Given the description of an element on the screen output the (x, y) to click on. 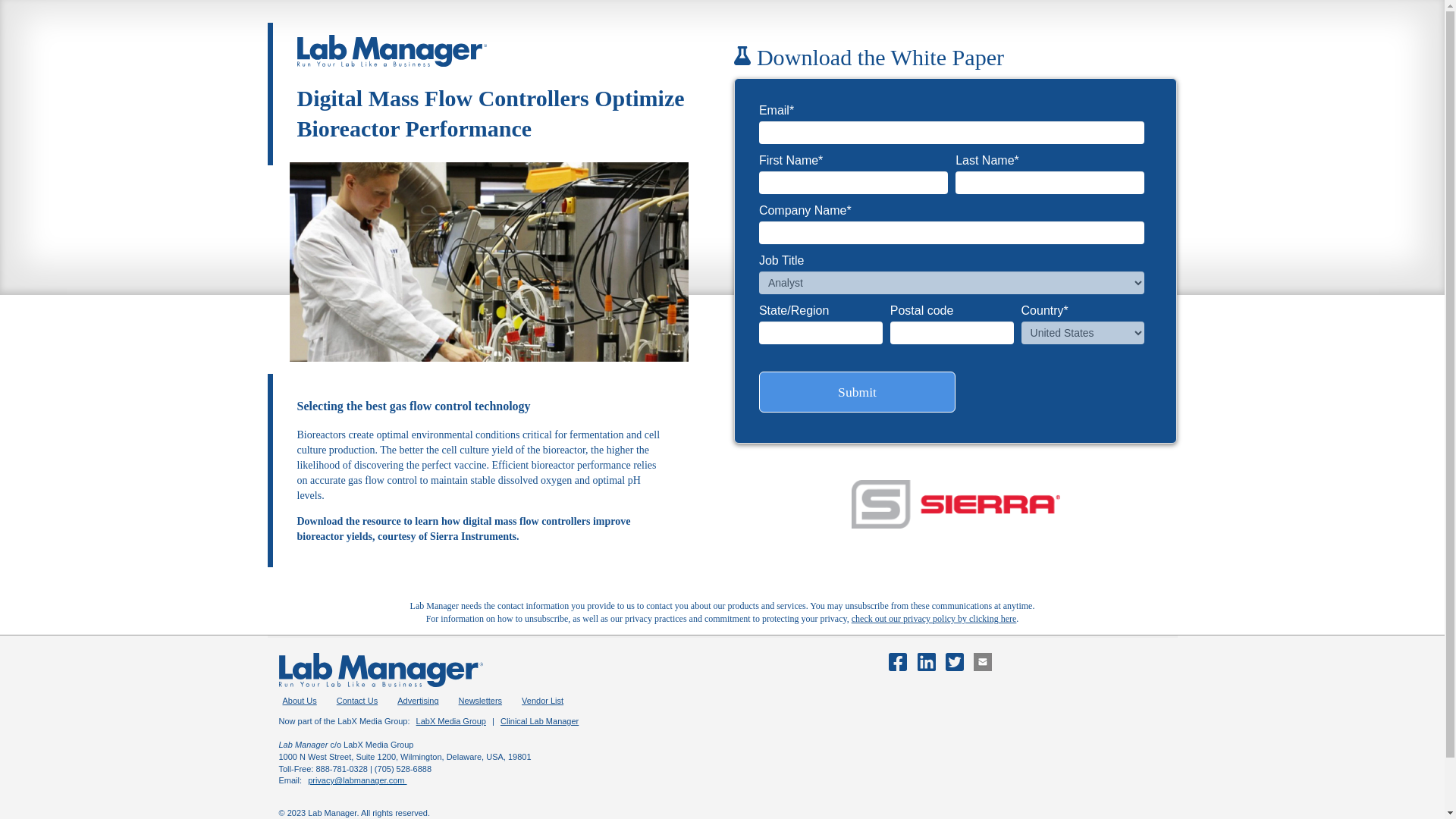
Newsletters (479, 700)
Contact Us (357, 700)
Clinical Lab Manager (539, 720)
Submit (856, 391)
Advertising (417, 700)
Bioreactor 1800x900 (488, 261)
Submit (856, 391)
About Us (299, 700)
check out our privacy policy by clicking here (933, 618)
Vendor List (542, 700)
